Given the description of an element on the screen output the (x, y) to click on. 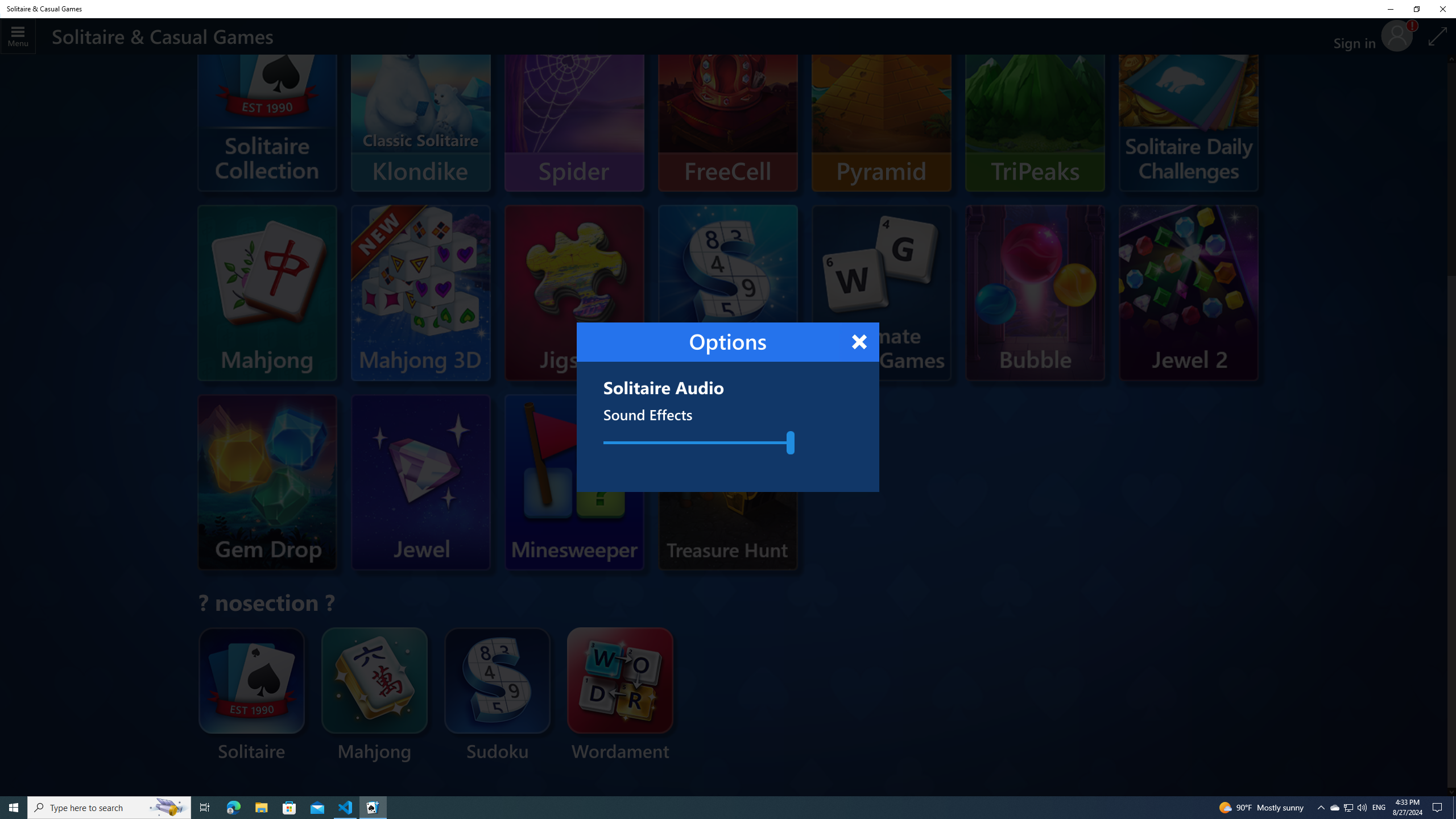
Microsoft Solitaire Collection (267, 120)
AutomationID: down_arrow_0 (1451, 791)
Microsoft UWG (881, 263)
FreeCell (727, 103)
Menu (18, 36)
Sudoku (496, 695)
Microsoft Treasure Hunt (727, 512)
Running applications (706, 807)
Sound Effects (696, 442)
Microsoft Jigsaw (574, 289)
Microsoft Minesweeper (552, 481)
